Given the description of an element on the screen output the (x, y) to click on. 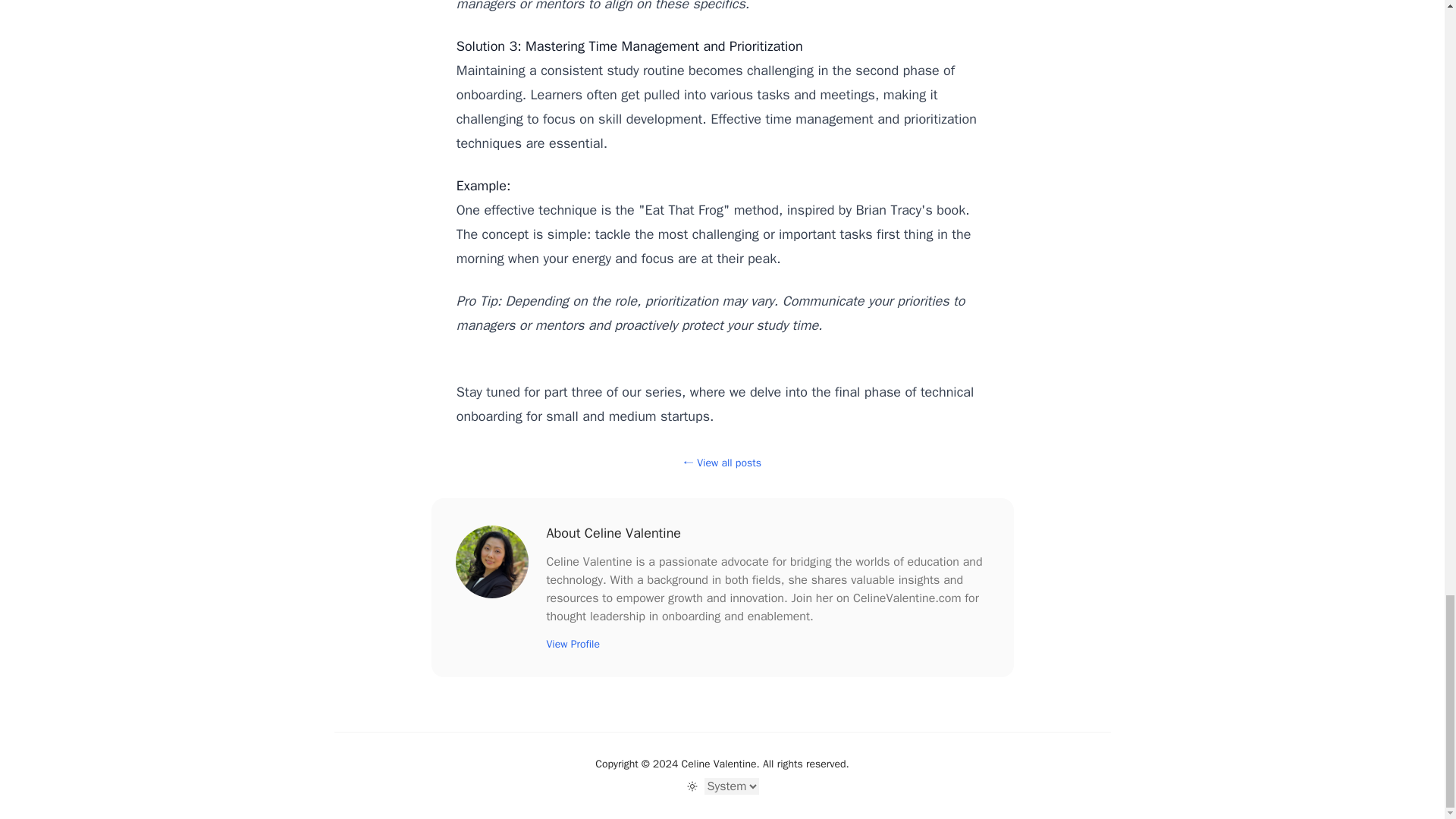
View Profile (572, 643)
